Given the description of an element on the screen output the (x, y) to click on. 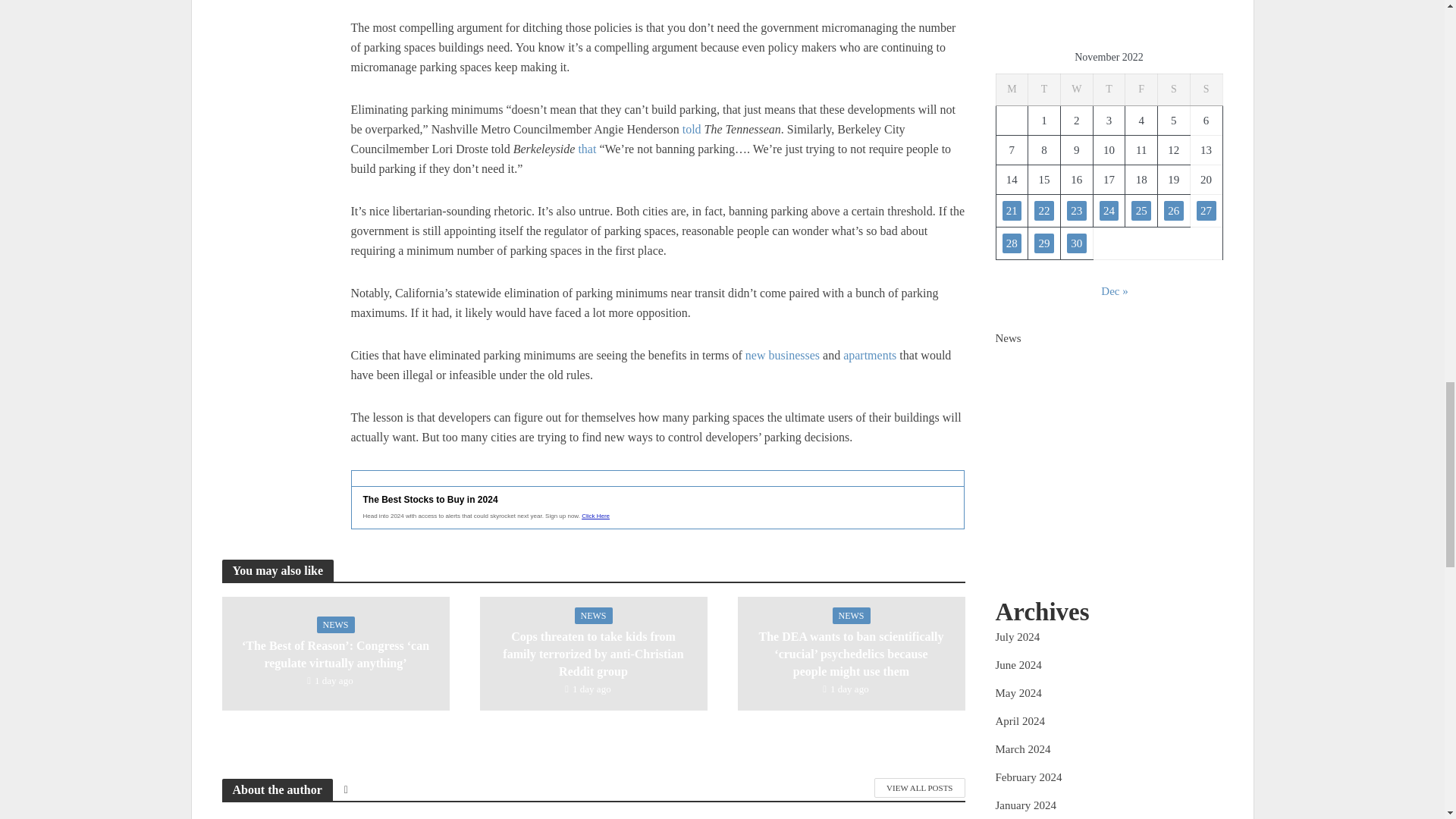
Monday (1011, 89)
Tuesday (1044, 89)
